Given the description of an element on the screen output the (x, y) to click on. 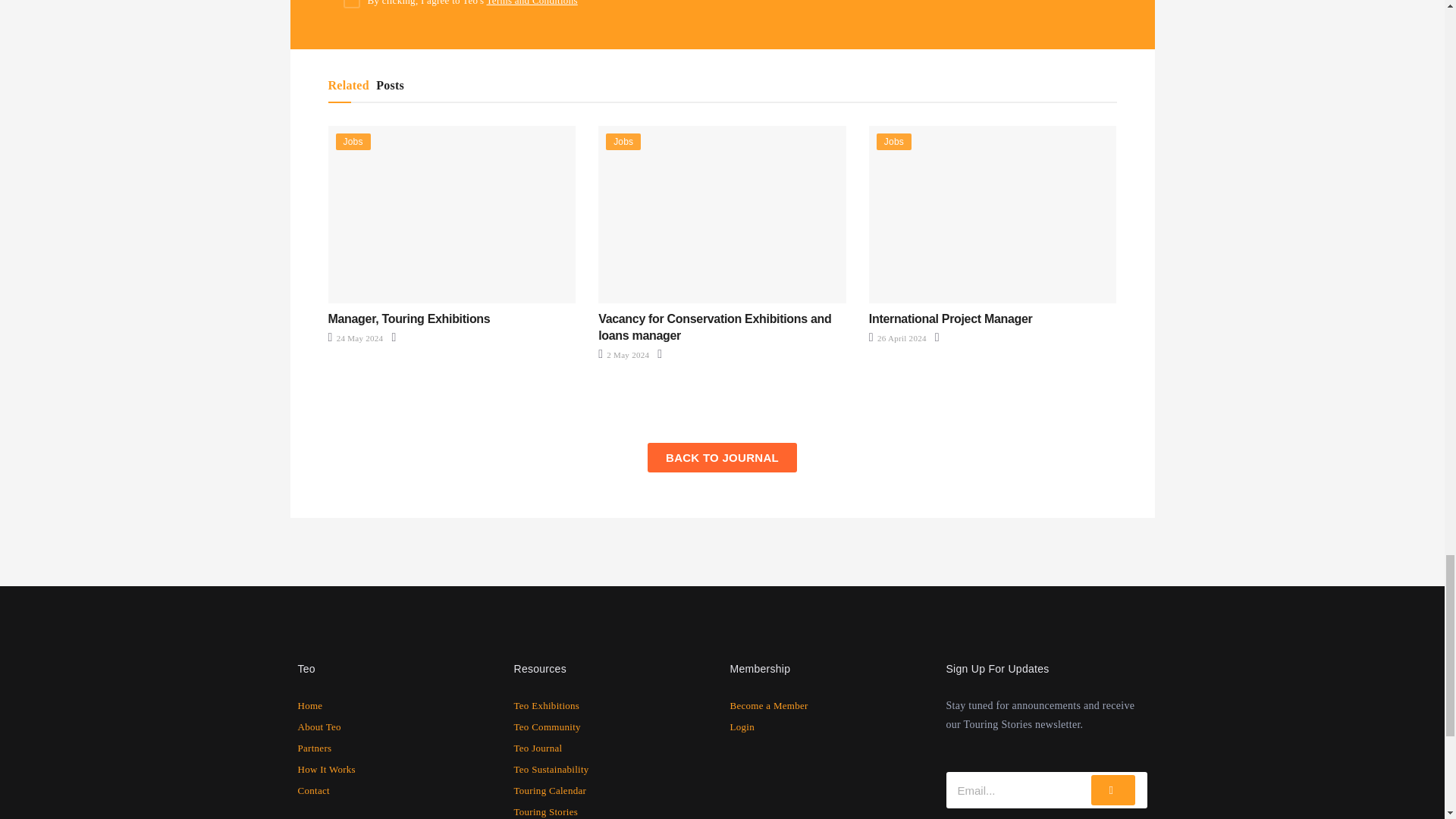
24 May 2024 (354, 338)
Terms and Conditions (532, 2)
Jobs (351, 141)
Manager, Touring Exhibitions (408, 318)
